Given the description of an element on the screen output the (x, y) to click on. 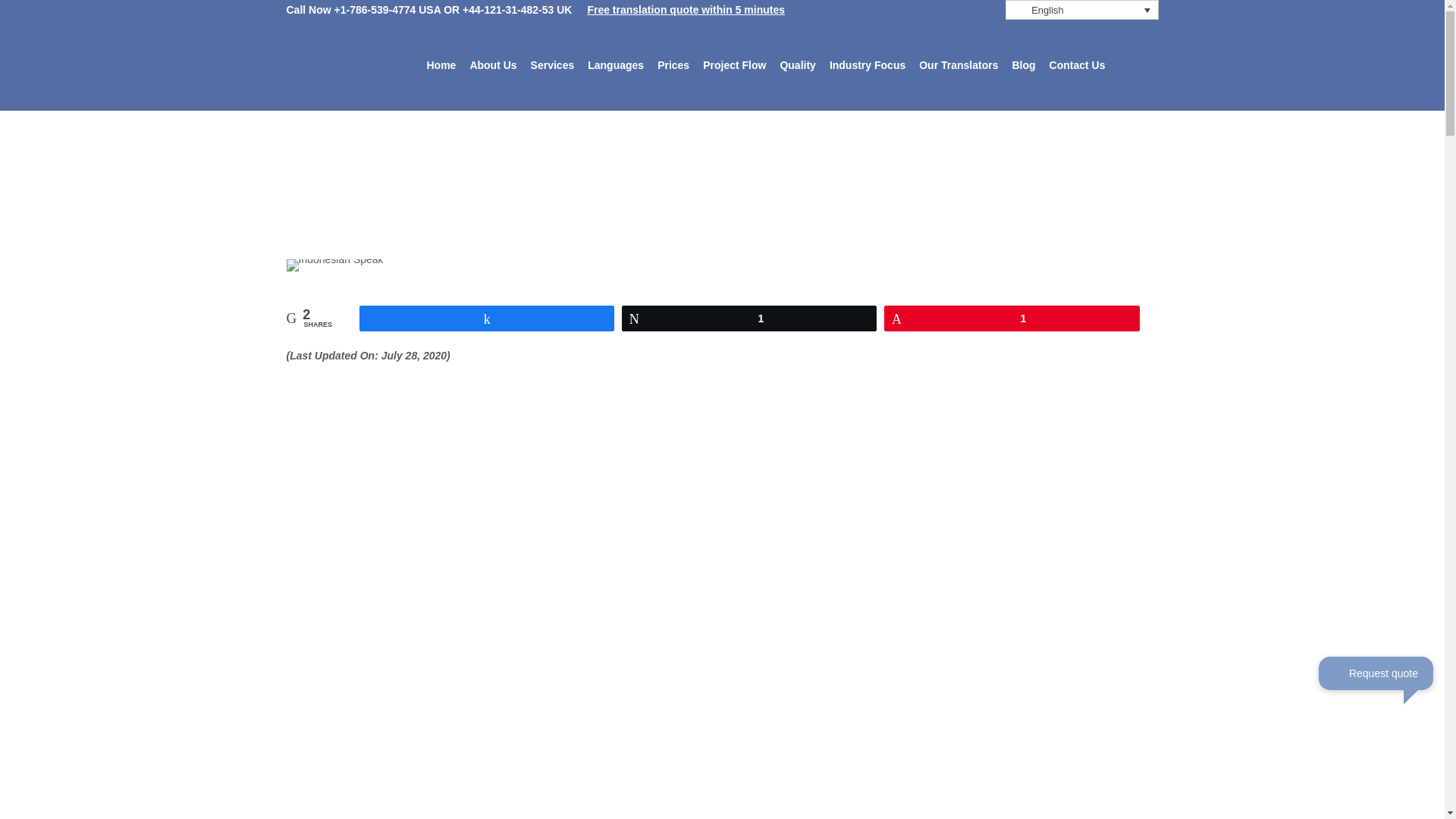
English (1082, 9)
Free translation quote within 5 minutes (685, 9)
Languages (615, 65)
indonesian language support (335, 265)
